Given the description of an element on the screen output the (x, y) to click on. 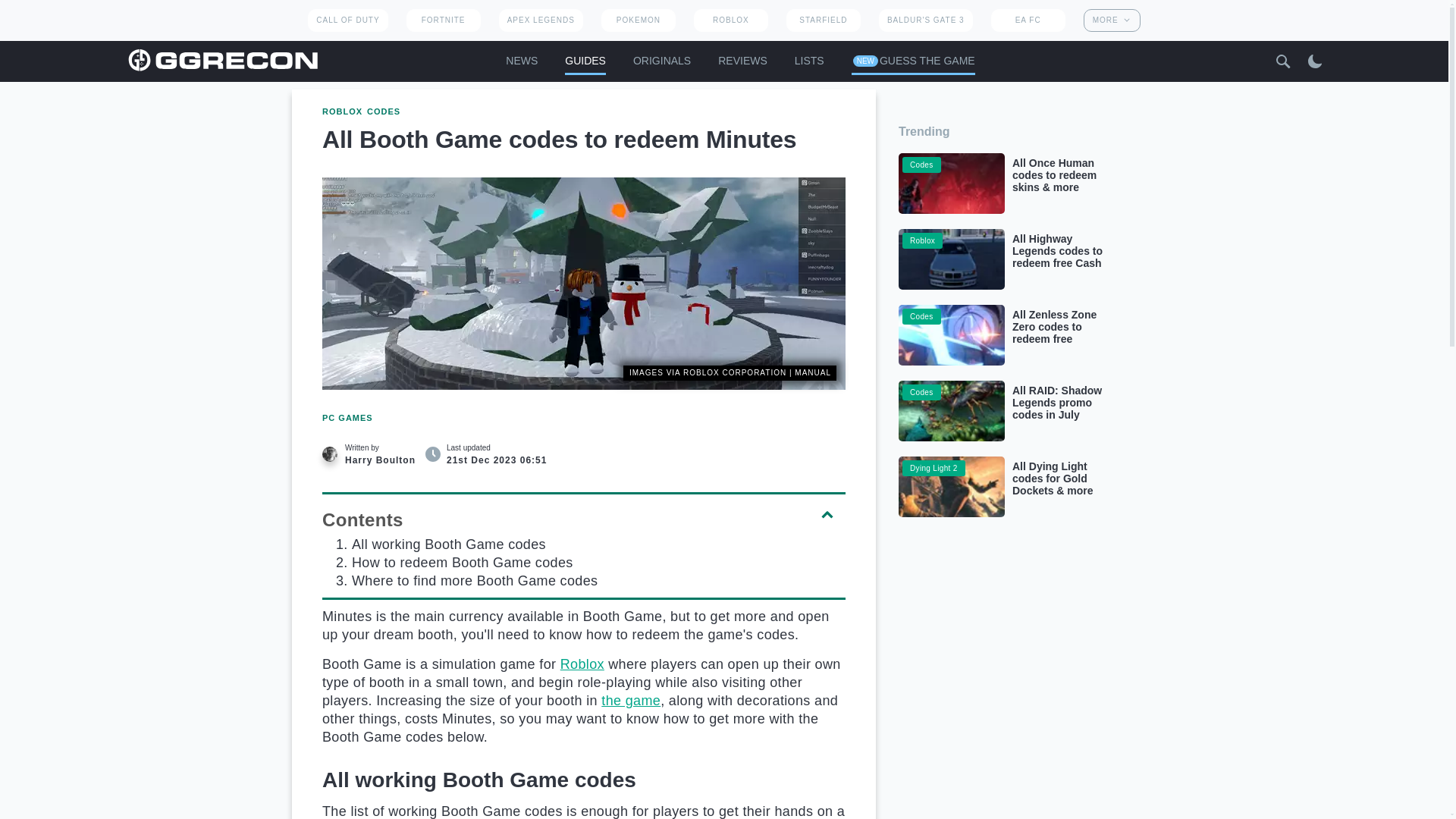
Roblox (582, 663)
All Booth Game codes to redeem Minutes (583, 283)
FORTNITE (443, 20)
MORE (1111, 20)
EA FC (1028, 20)
ROBLOX (731, 20)
STARFIELD (823, 20)
authorlink (369, 454)
CALL OF DUTY (347, 20)
APEX LEGENDS (541, 20)
POKEMON (638, 20)
BALDUR'S GATE 3 (925, 20)
Harry Boulton (329, 453)
